Given the description of an element on the screen output the (x, y) to click on. 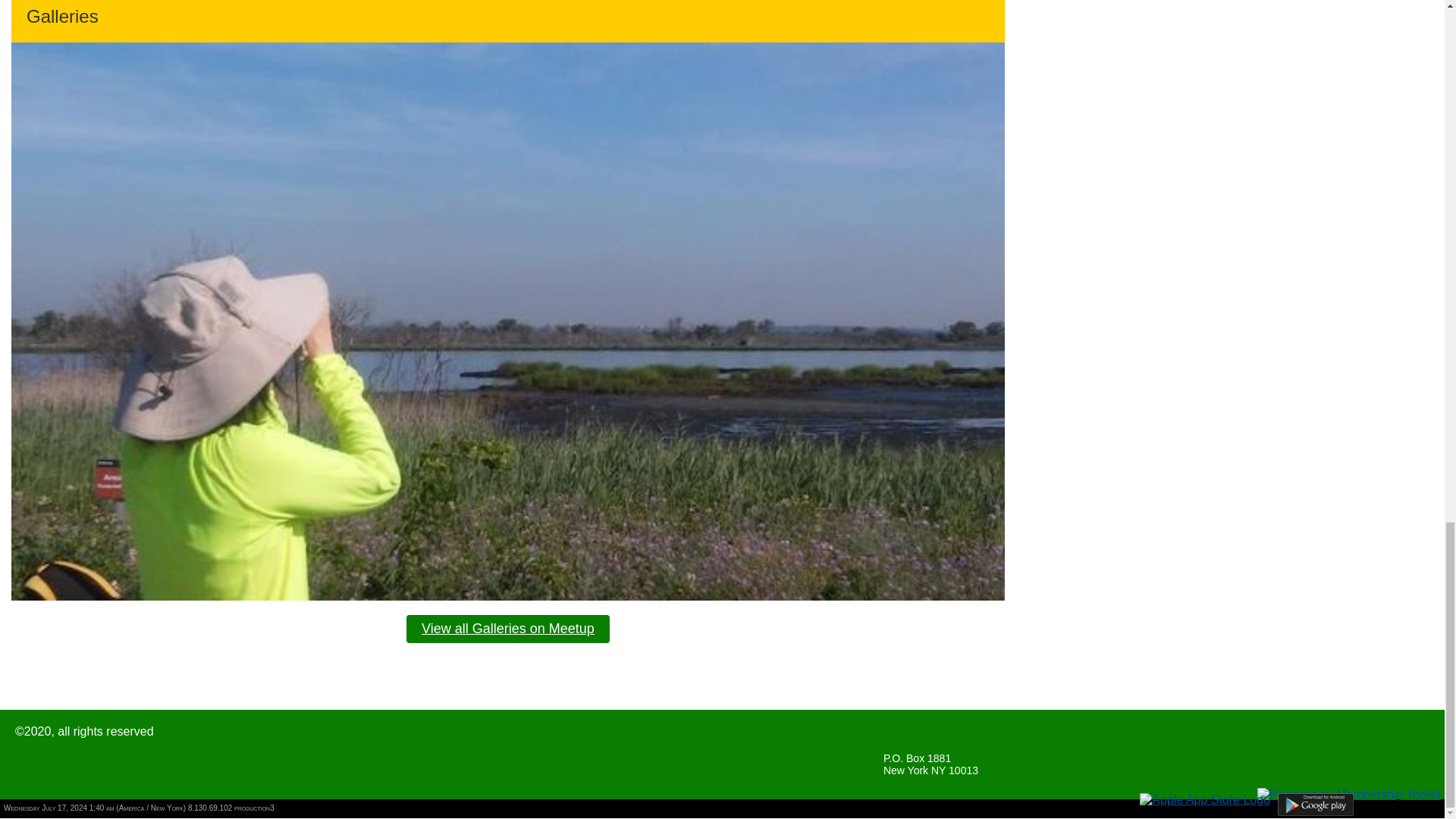
Get iPhone app on Apple App Store (1204, 799)
View all Galleries on Meetup (508, 628)
